Given the description of an element on the screen output the (x, y) to click on. 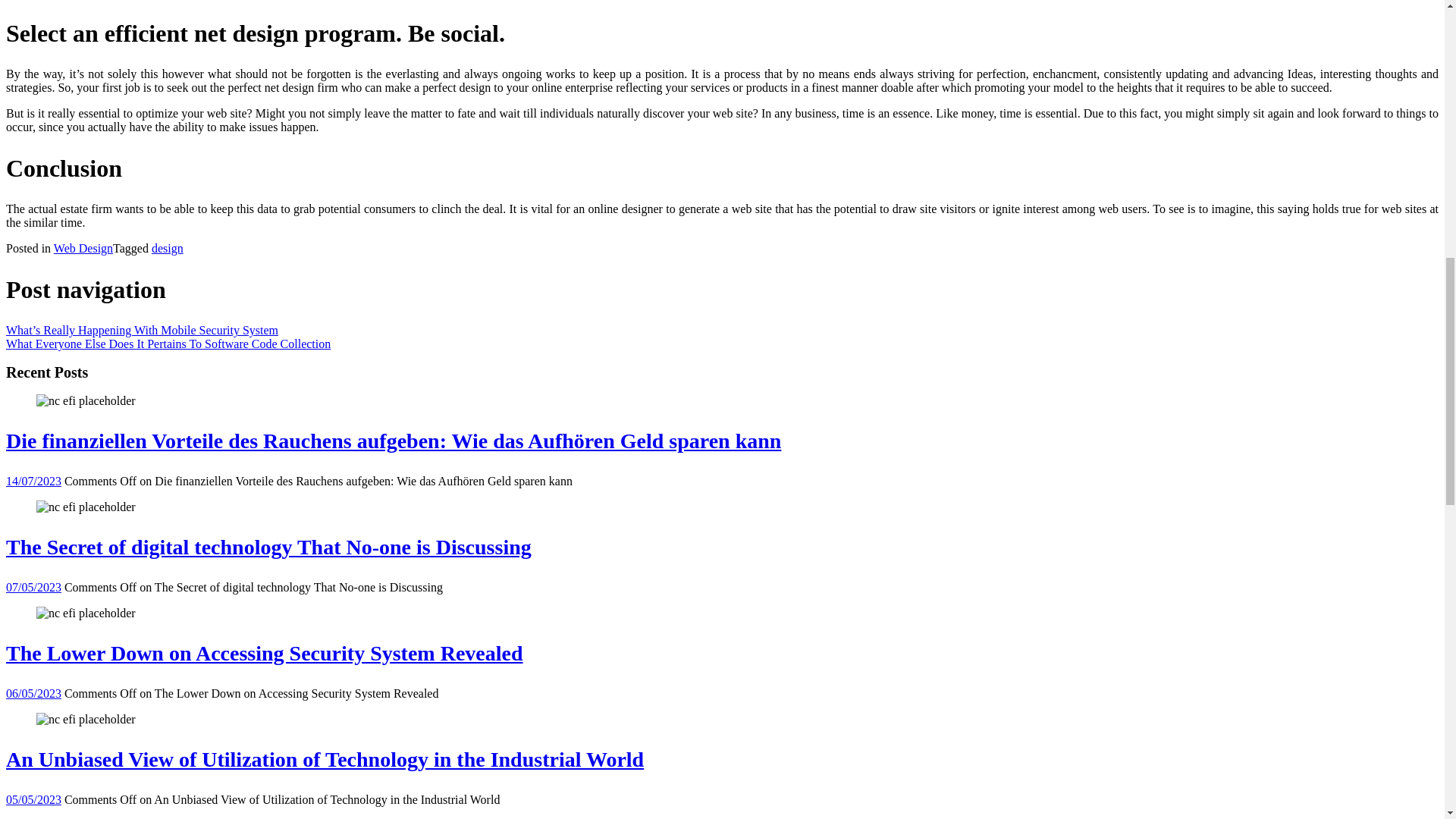
The Secret of digital technology That No-one is Discussing (85, 507)
Web Design (83, 247)
The Lower Down on Accessing Security System Revealed (85, 612)
design (167, 247)
